Given the description of an element on the screen output the (x, y) to click on. 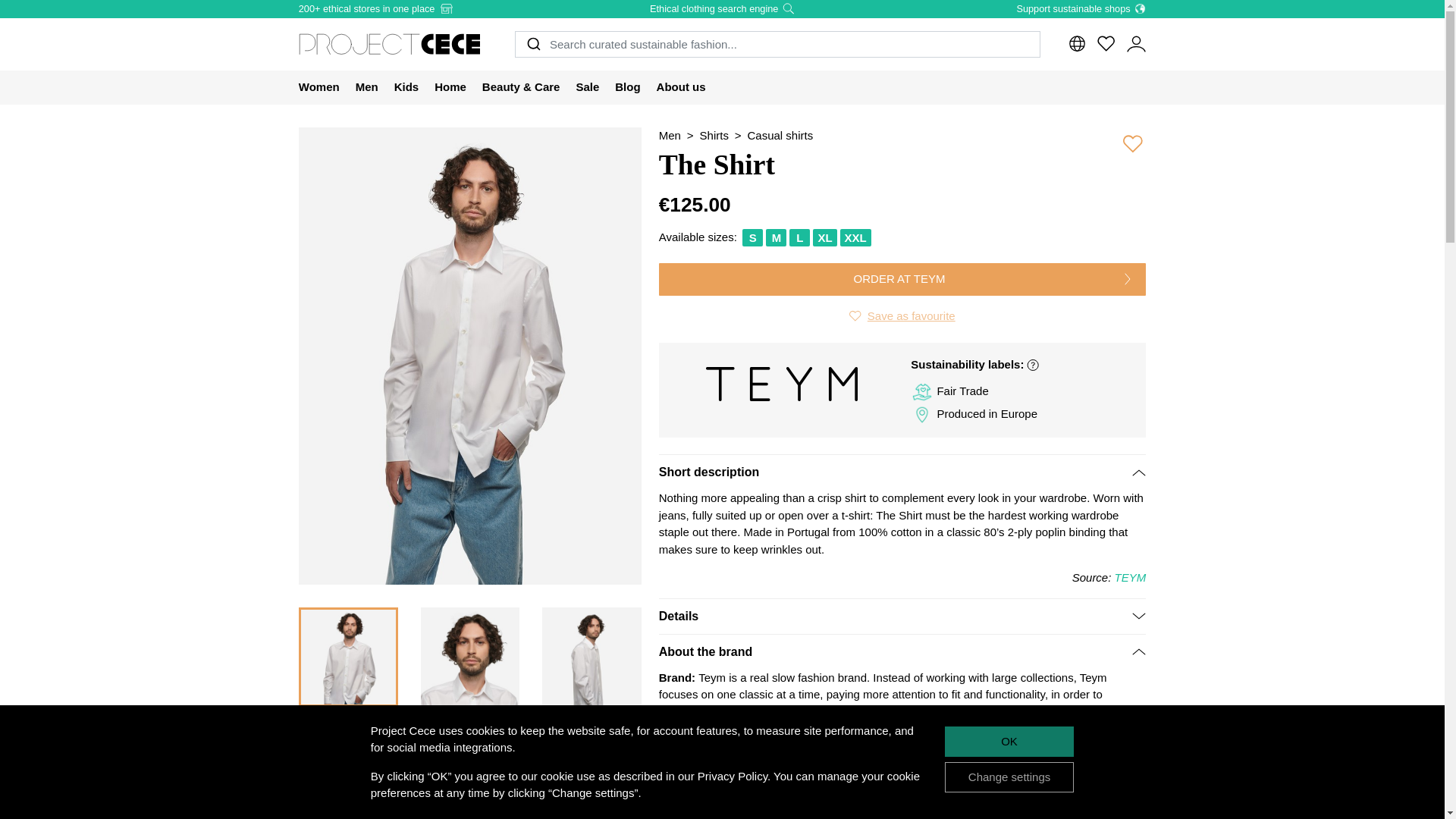
Fair Trade (922, 391)
Ethical clothing search engine (721, 8)
Voeg dit product toe aan je favorieten! (902, 316)
The Shirt from TEYM (347, 774)
Support sustainable shops (1080, 8)
The Shirt from TEYM (347, 656)
The Shirt from TEYM (469, 774)
The Shirt from TEYM (469, 656)
Submit (532, 43)
The Shirt from TEYM (591, 656)
Produced in Europe (922, 414)
